Given the description of an element on the screen output the (x, y) to click on. 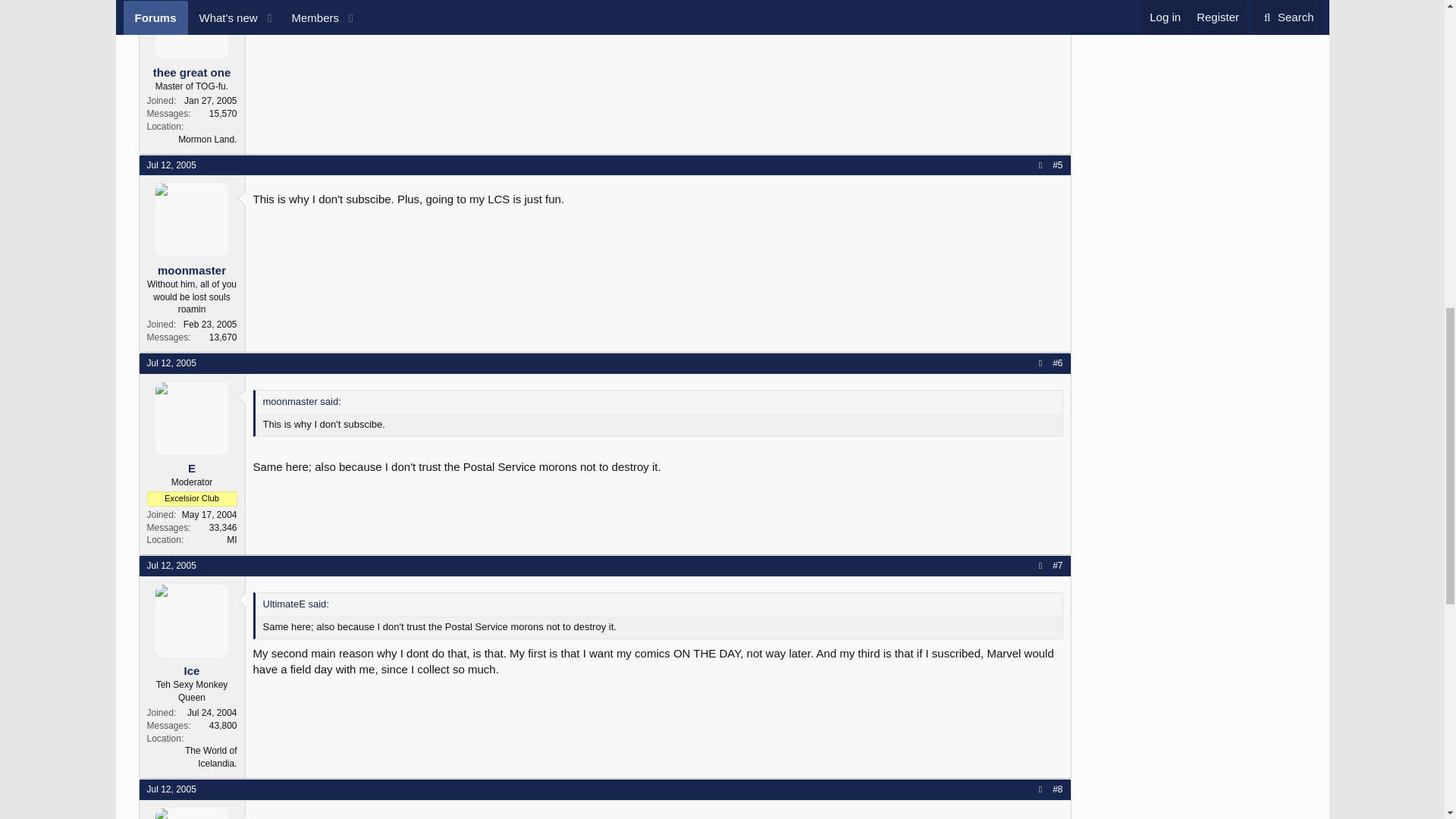
Jul 12, 2005 at 9:56 PM (171, 565)
Jul 12, 2005 at 9:59 PM (171, 788)
Jul 12, 2005 at 9:54 PM (171, 362)
Jul 12, 2005 at 9:38 PM (171, 164)
